Given the description of an element on the screen output the (x, y) to click on. 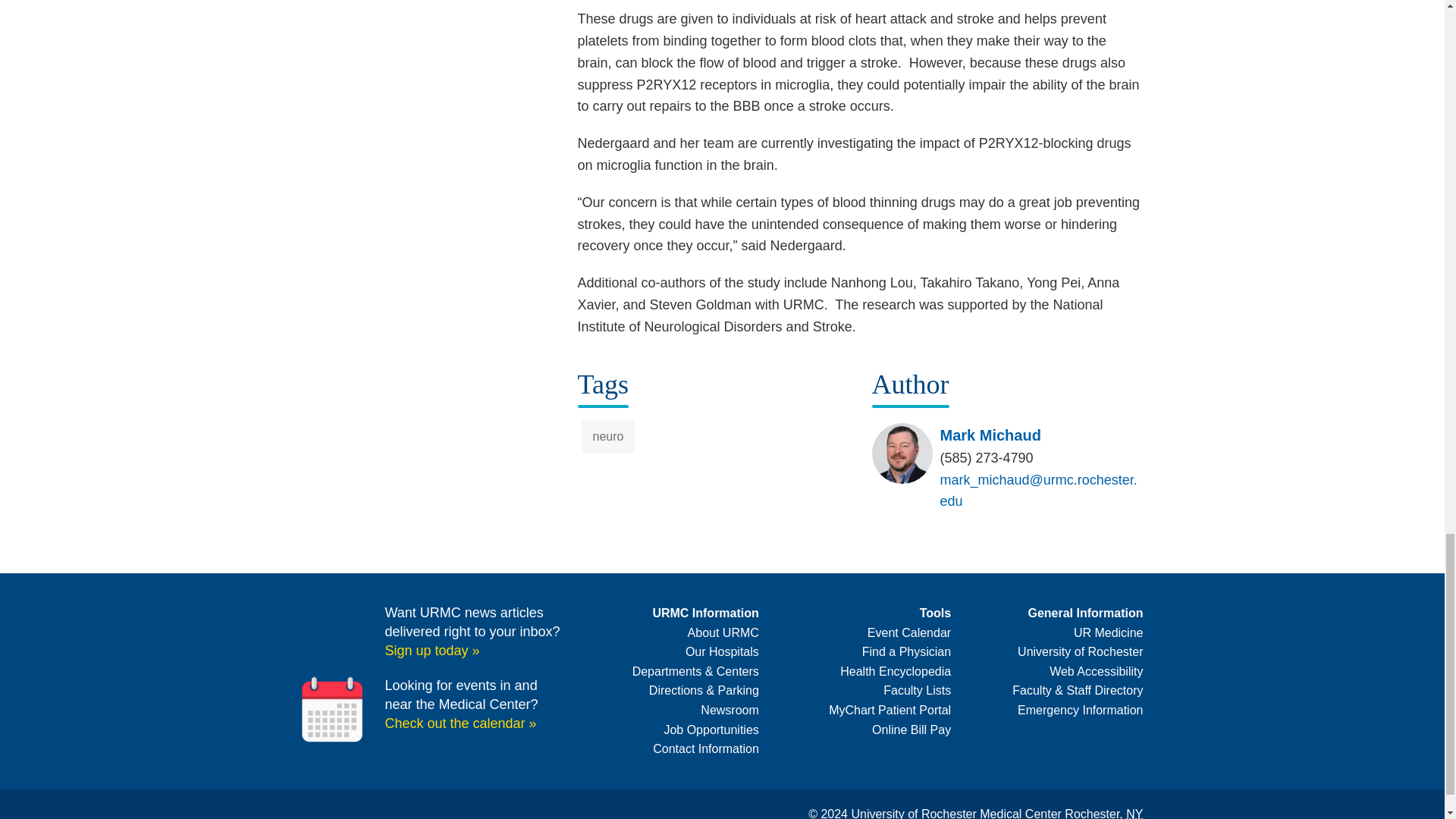
neuro (607, 436)
New York (1133, 813)
Mark Michaud (990, 434)
